Given the description of an element on the screen output the (x, y) to click on. 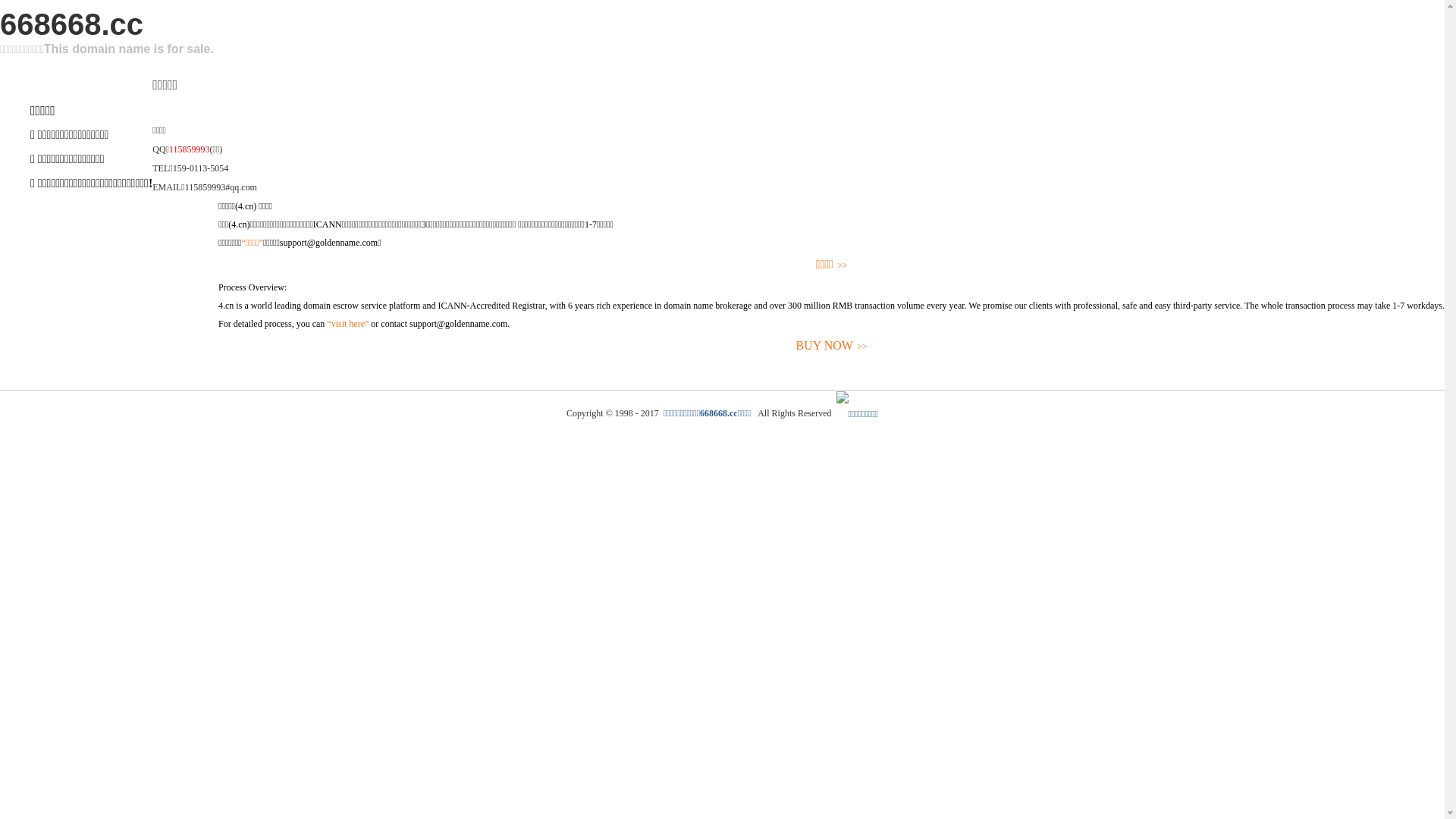
BUY NOW>> Element type: text (831, 345)
115859993 Element type: text (189, 149)
